Given the description of an element on the screen output the (x, y) to click on. 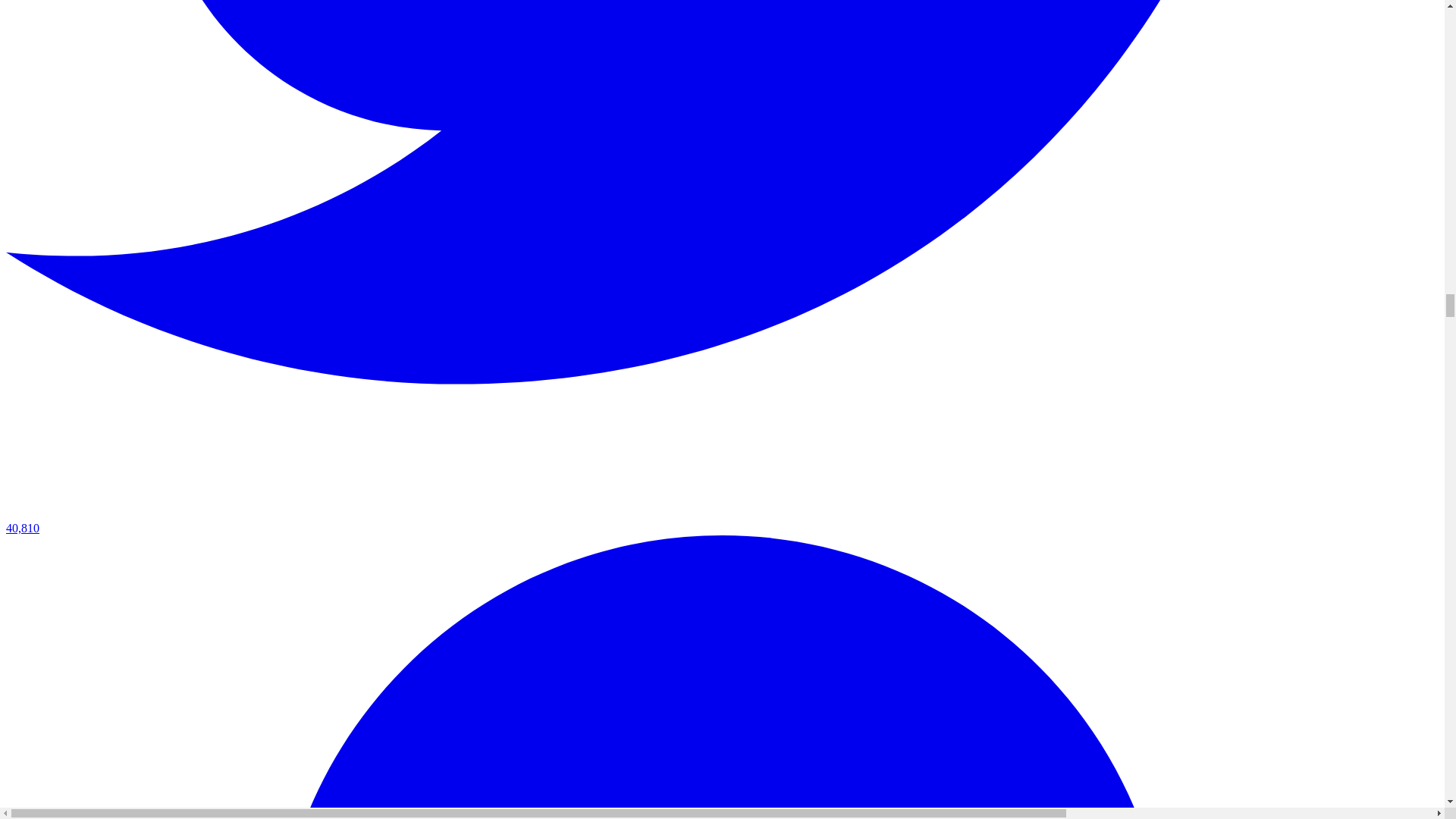
40,810 Tweets (721, 520)
